Given the description of an element on the screen output the (x, y) to click on. 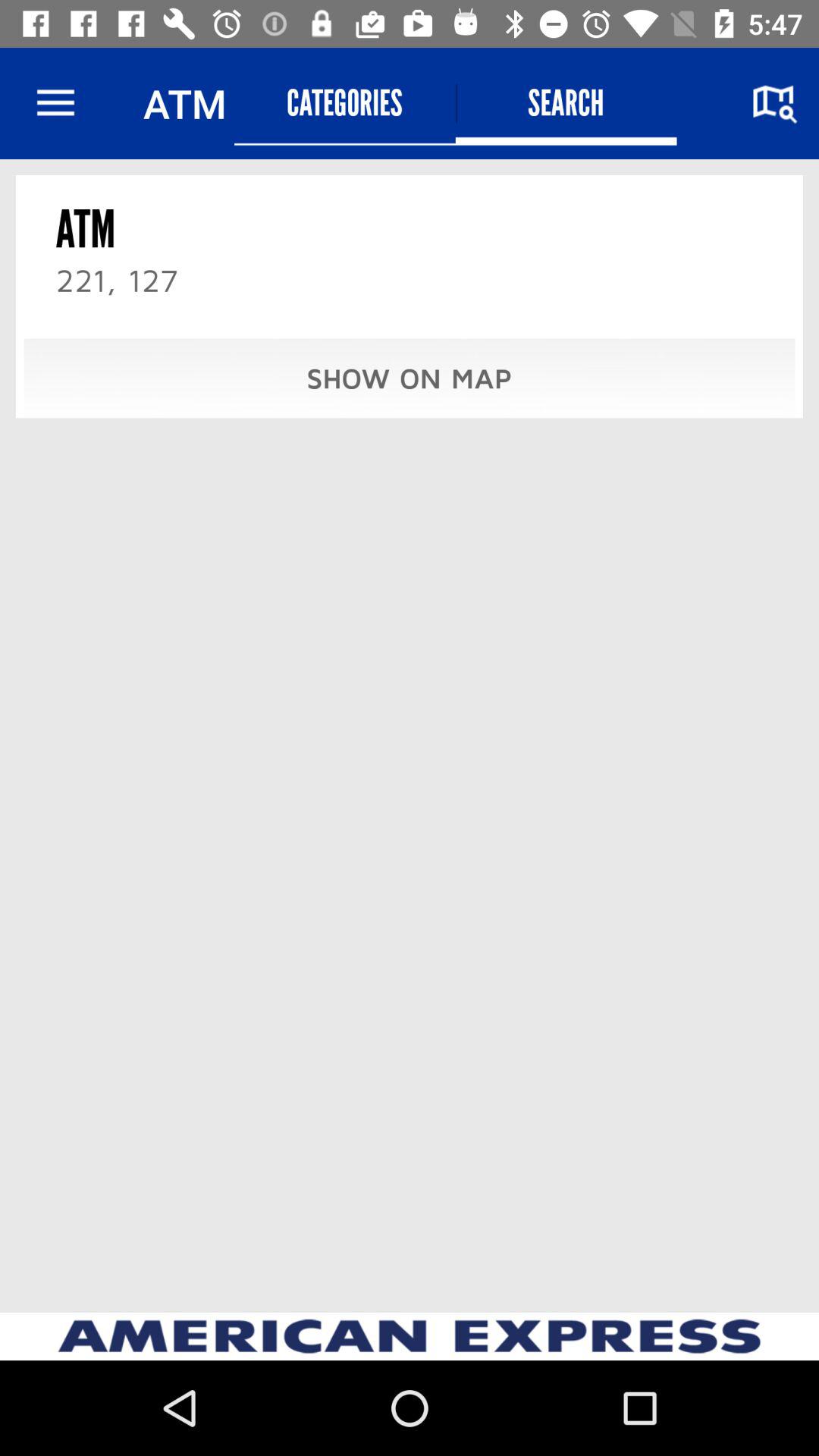
launch the item to the right of categories icon (565, 103)
